Given the description of an element on the screen output the (x, y) to click on. 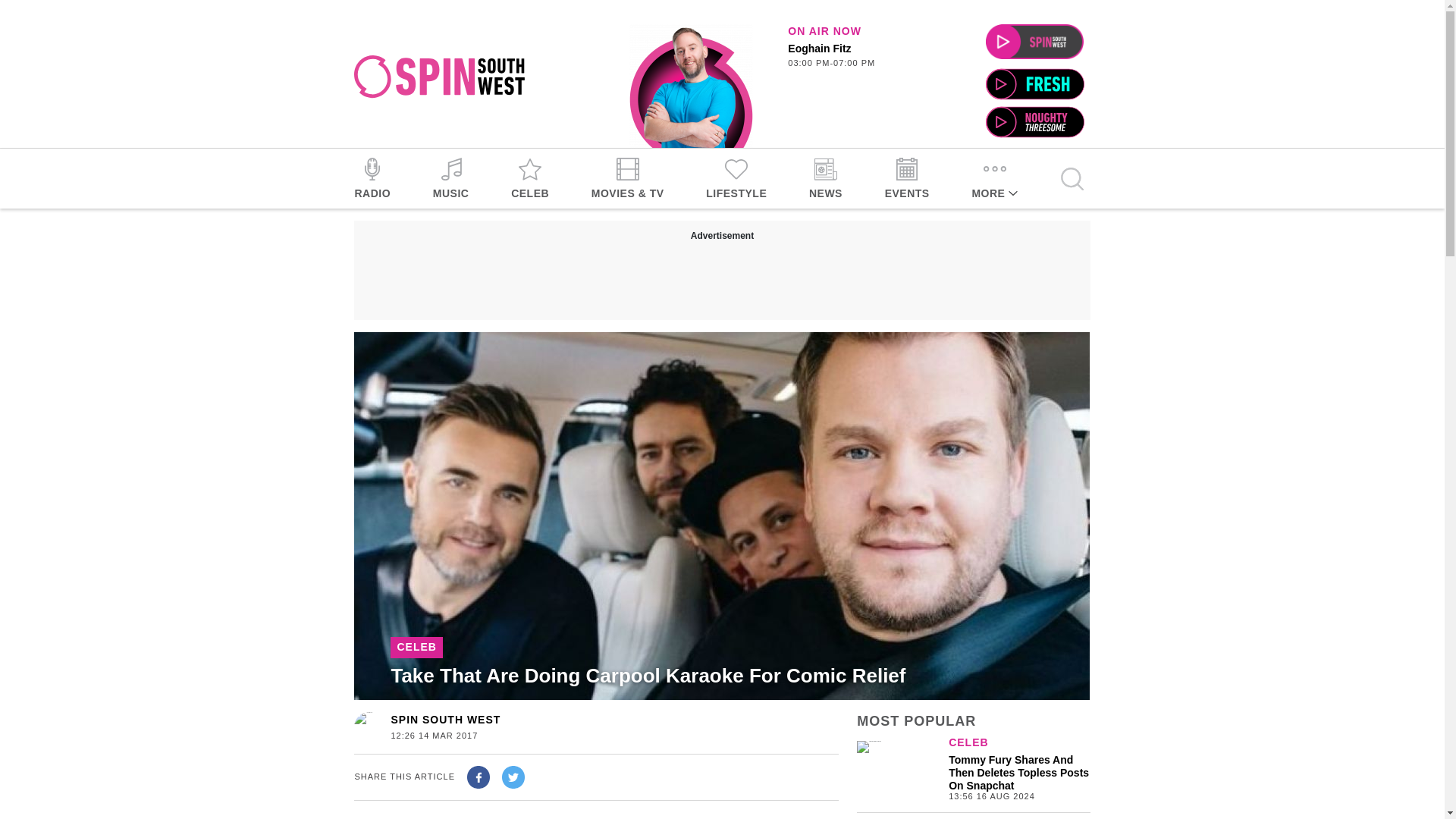
Celeb (529, 178)
Events (907, 178)
LIFESTYLE (736, 178)
Eoghain Fitz (860, 55)
CELEB (690, 86)
SPIN SOUTH WEST (416, 647)
Lifestyle (445, 719)
MUSIC (736, 178)
Music (451, 178)
